Given the description of an element on the screen output the (x, y) to click on. 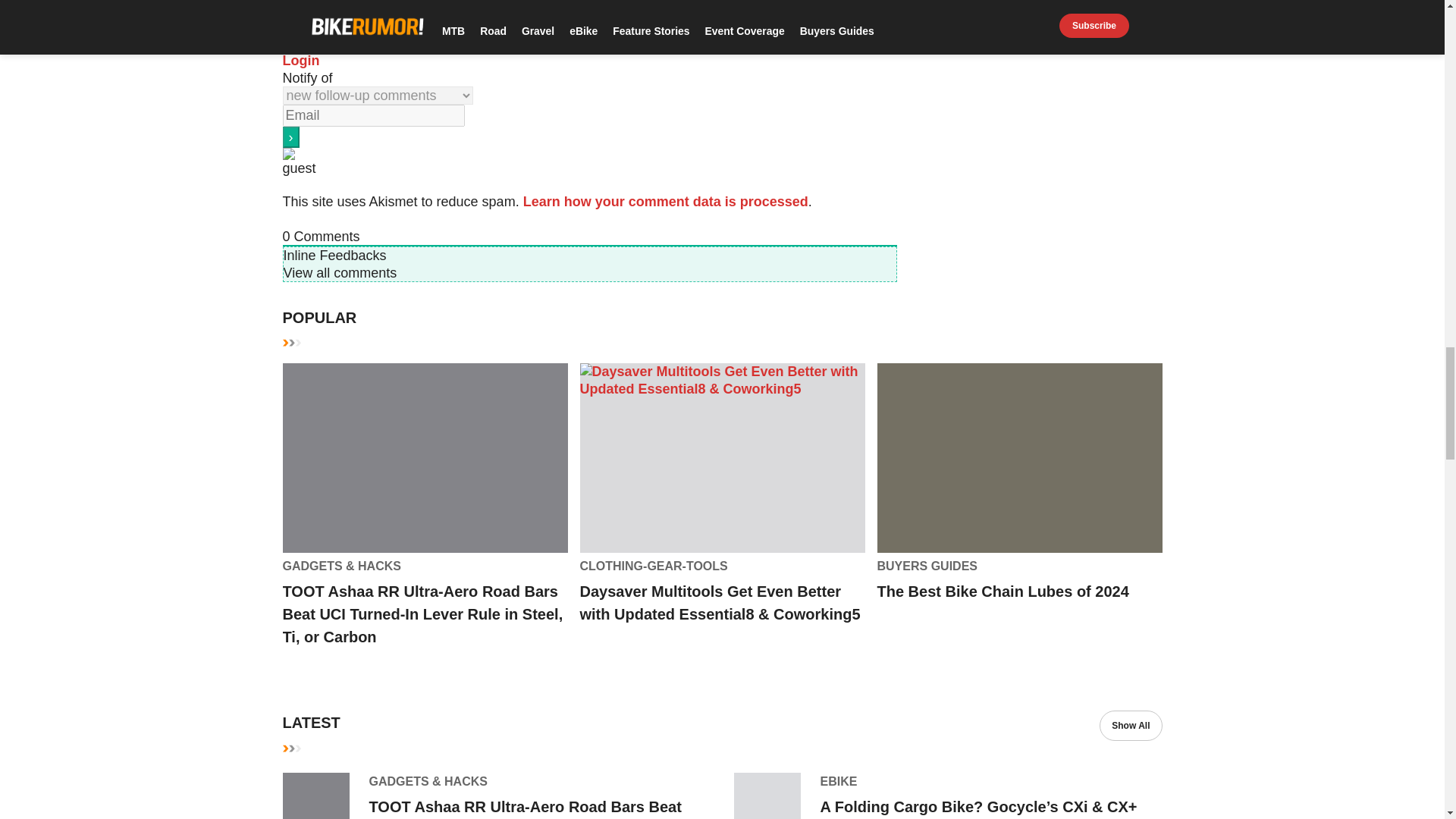
Login (300, 60)
